Given the description of an element on the screen output the (x, y) to click on. 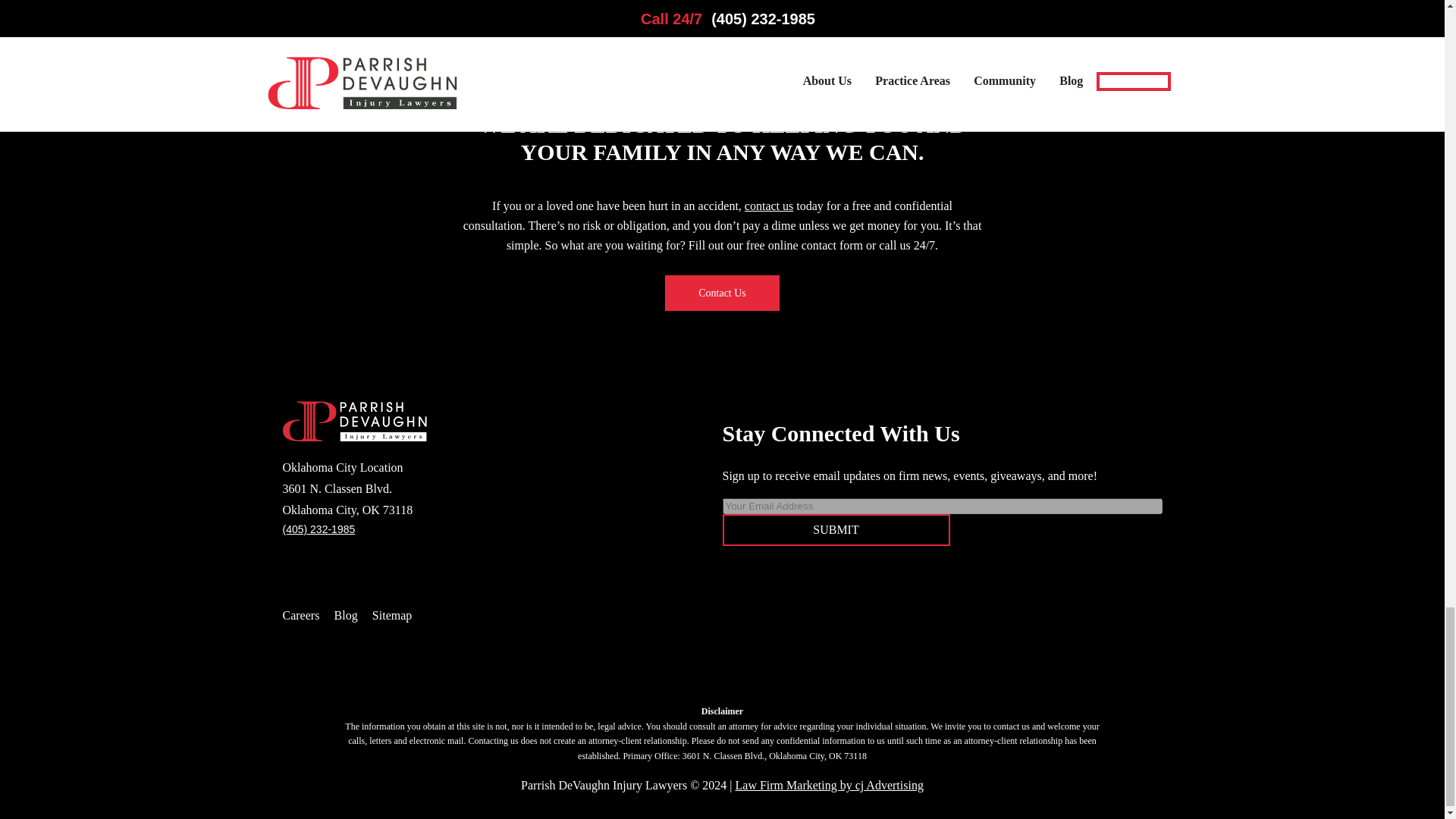
Submit (835, 530)
